Given the description of an element on the screen output the (x, y) to click on. 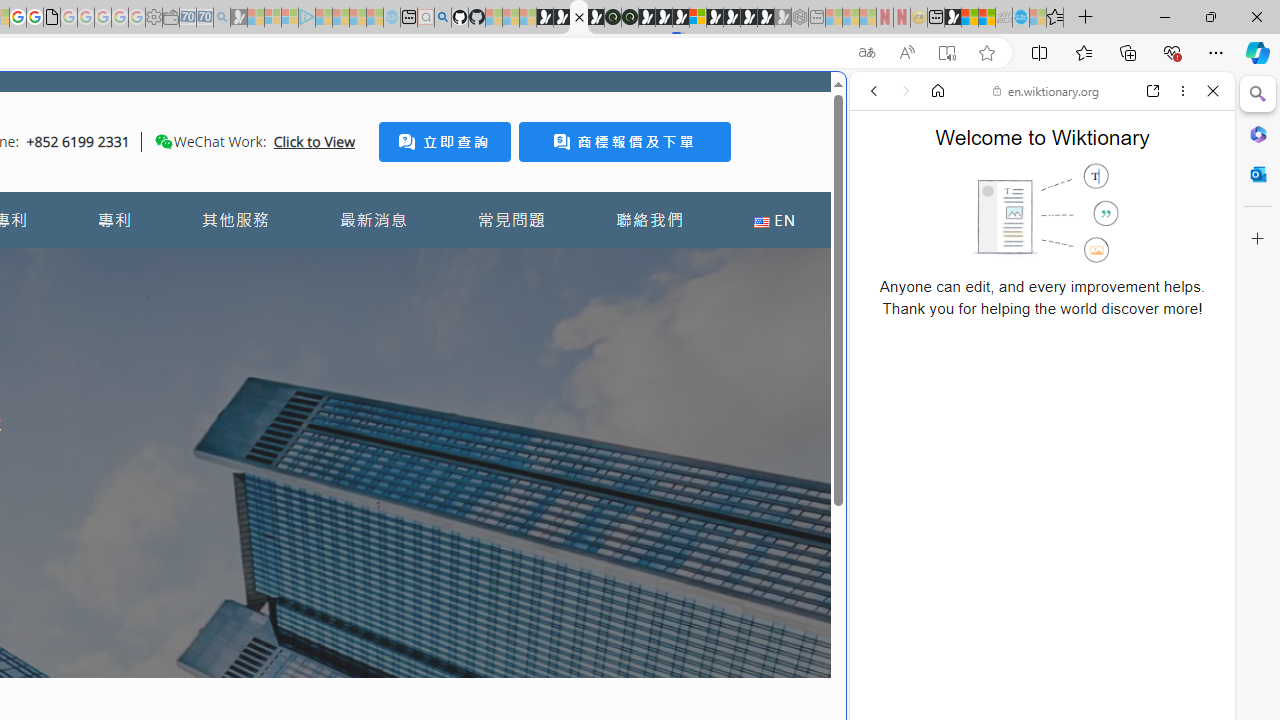
Play Cave FRVR in your browser | Games from Microsoft Start (343, 426)
